Given the description of an element on the screen output the (x, y) to click on. 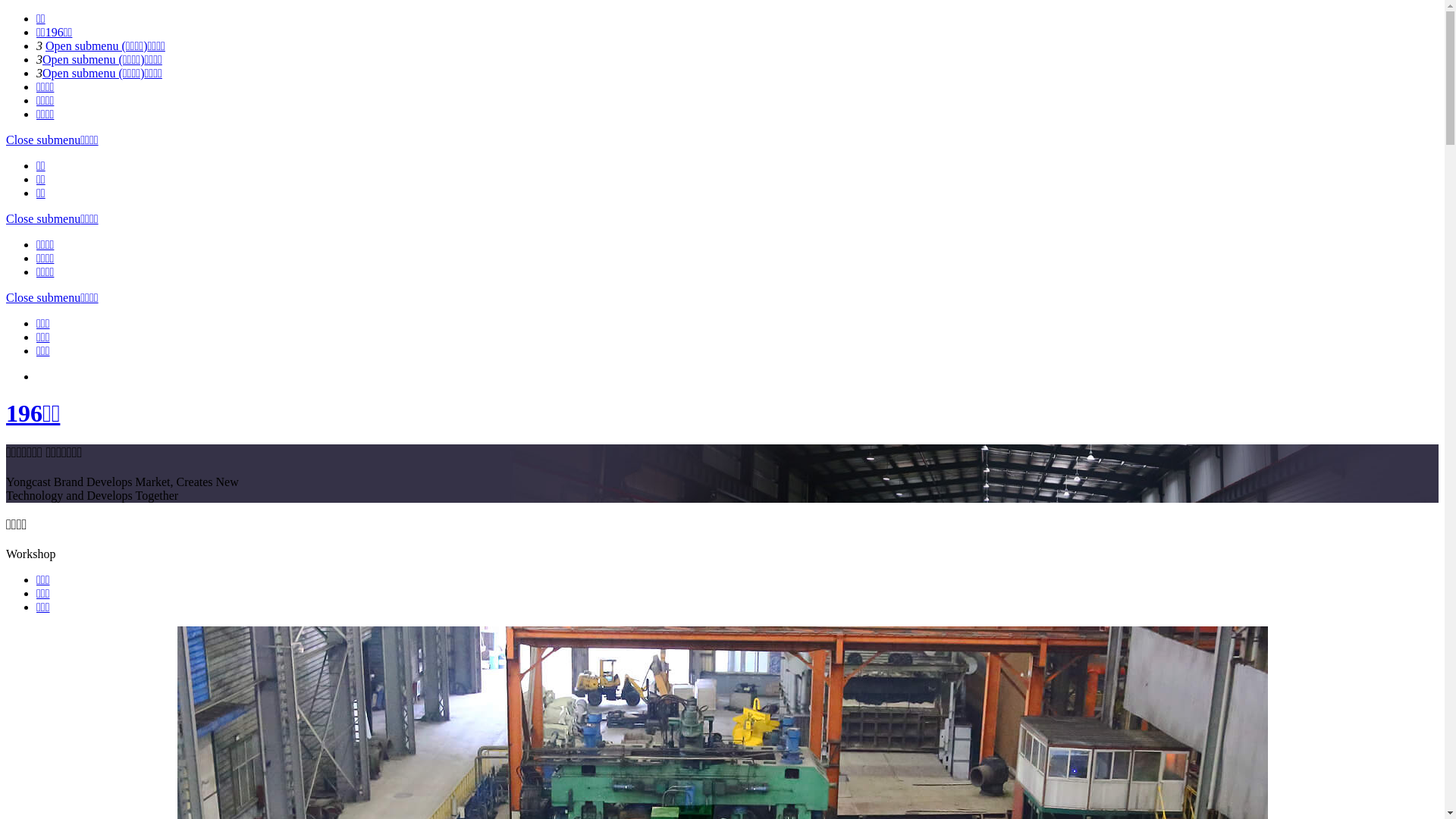
Close submenu Element type: text (43, 218)
Close submenu Element type: text (43, 139)
Close submenu Element type: text (43, 297)
